Given the description of an element on the screen output the (x, y) to click on. 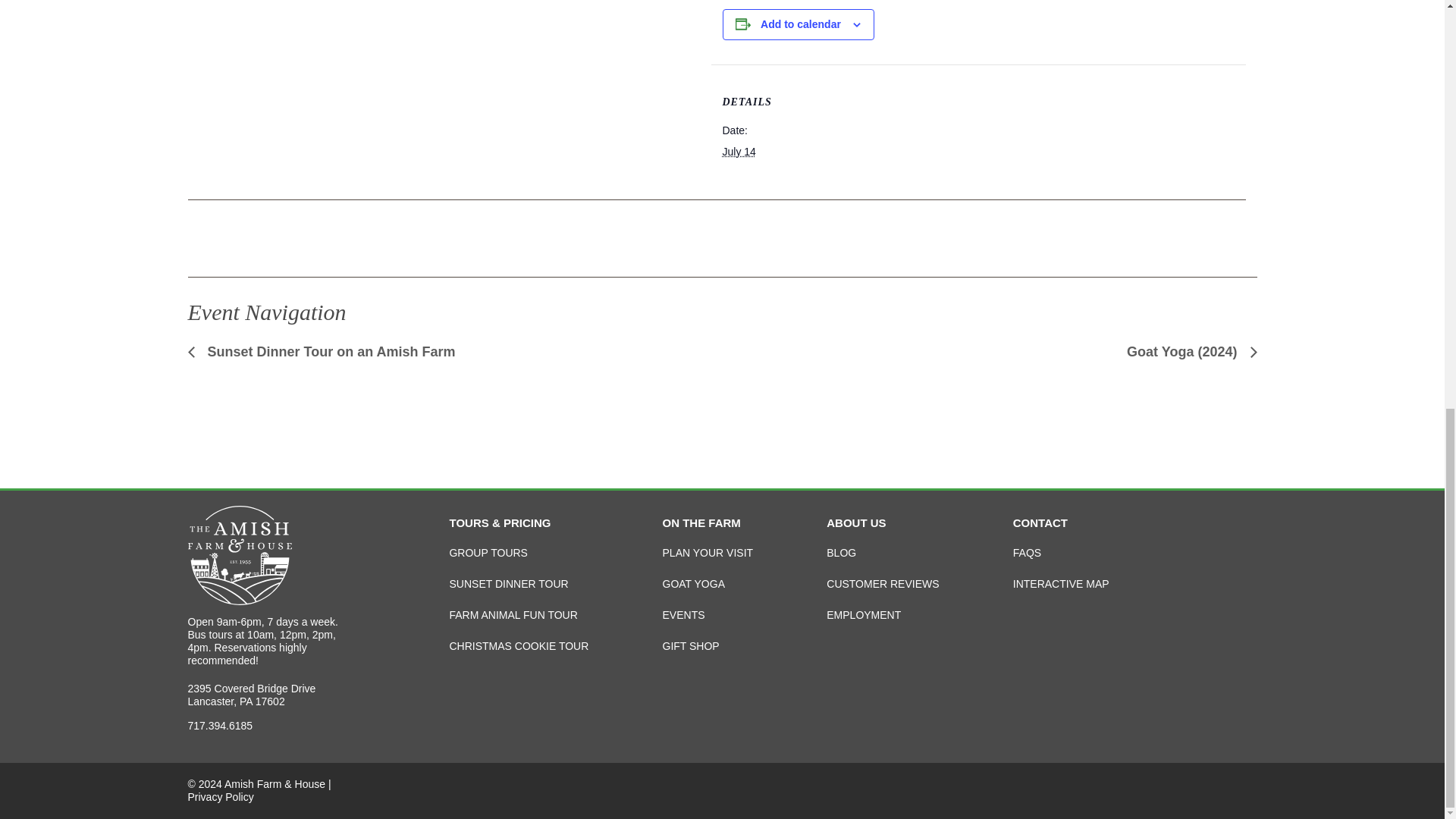
LOGO (239, 555)
Add to calendar (800, 24)
2024-07-14 (738, 151)
